Given the description of an element on the screen output the (x, y) to click on. 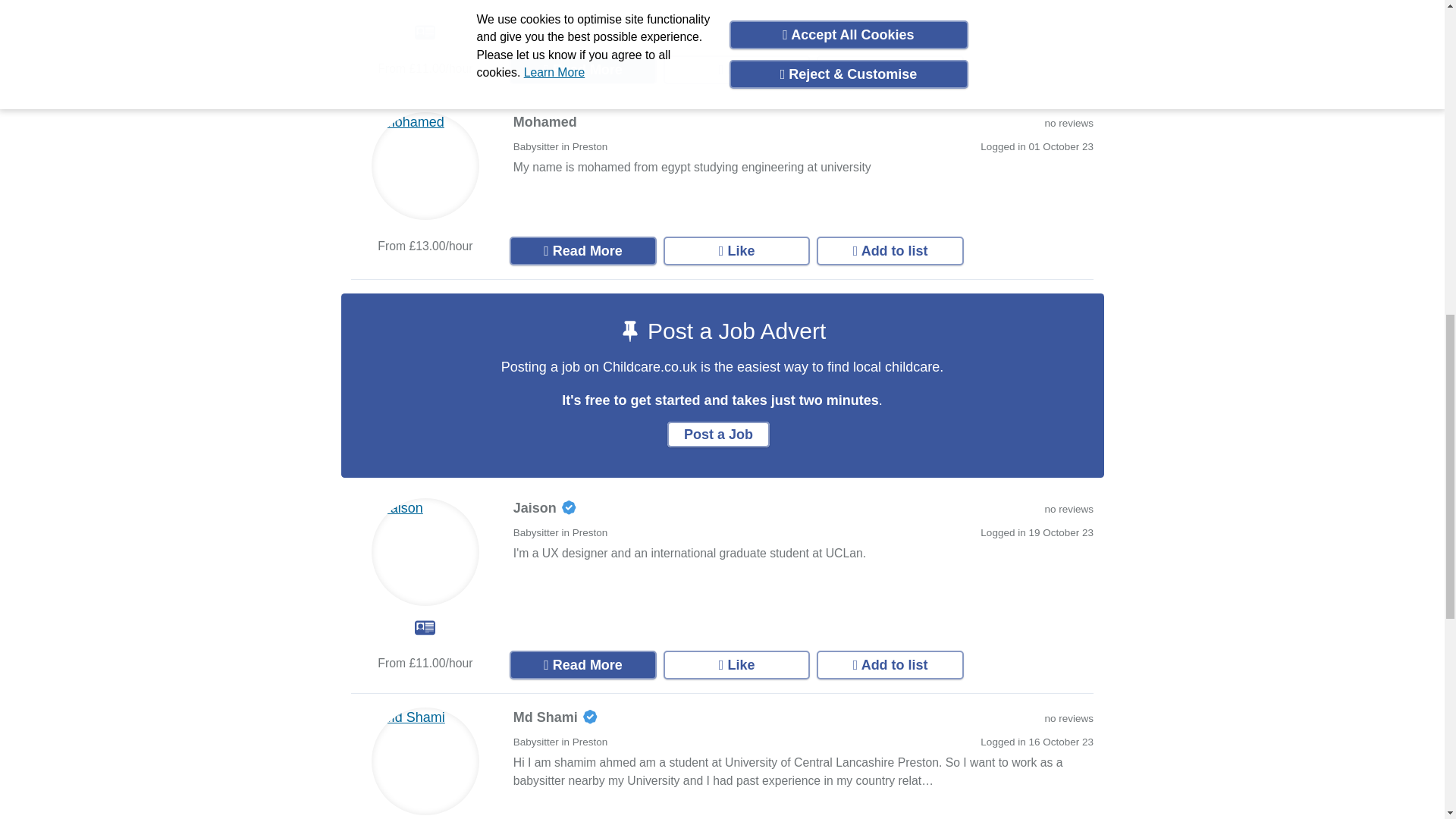
Copy of identity document held (424, 627)
View this members full provile (582, 69)
View this members full provile (582, 250)
Copy of identity document held (424, 32)
View this members full provile (582, 664)
